Given the description of an element on the screen output the (x, y) to click on. 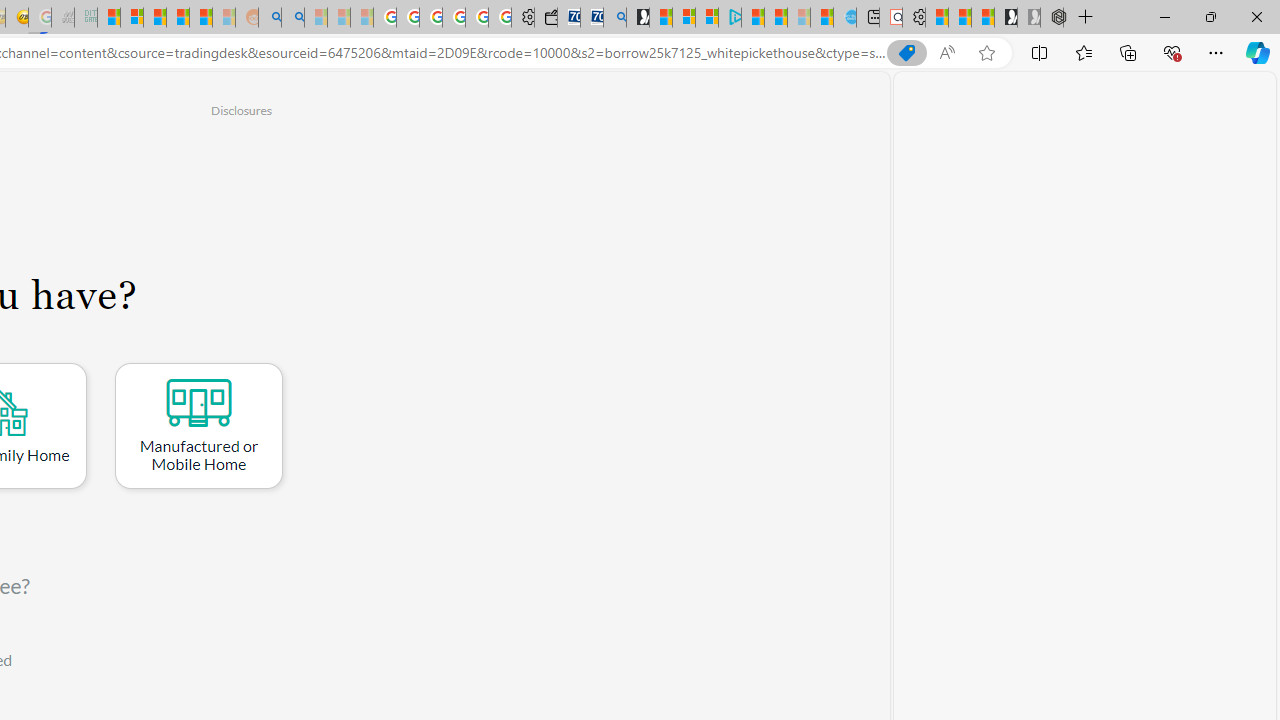
Student Loan Update: Forgiveness Program Ends This Month (200, 17)
Wallet (545, 17)
